Given the description of an element on the screen output the (x, y) to click on. 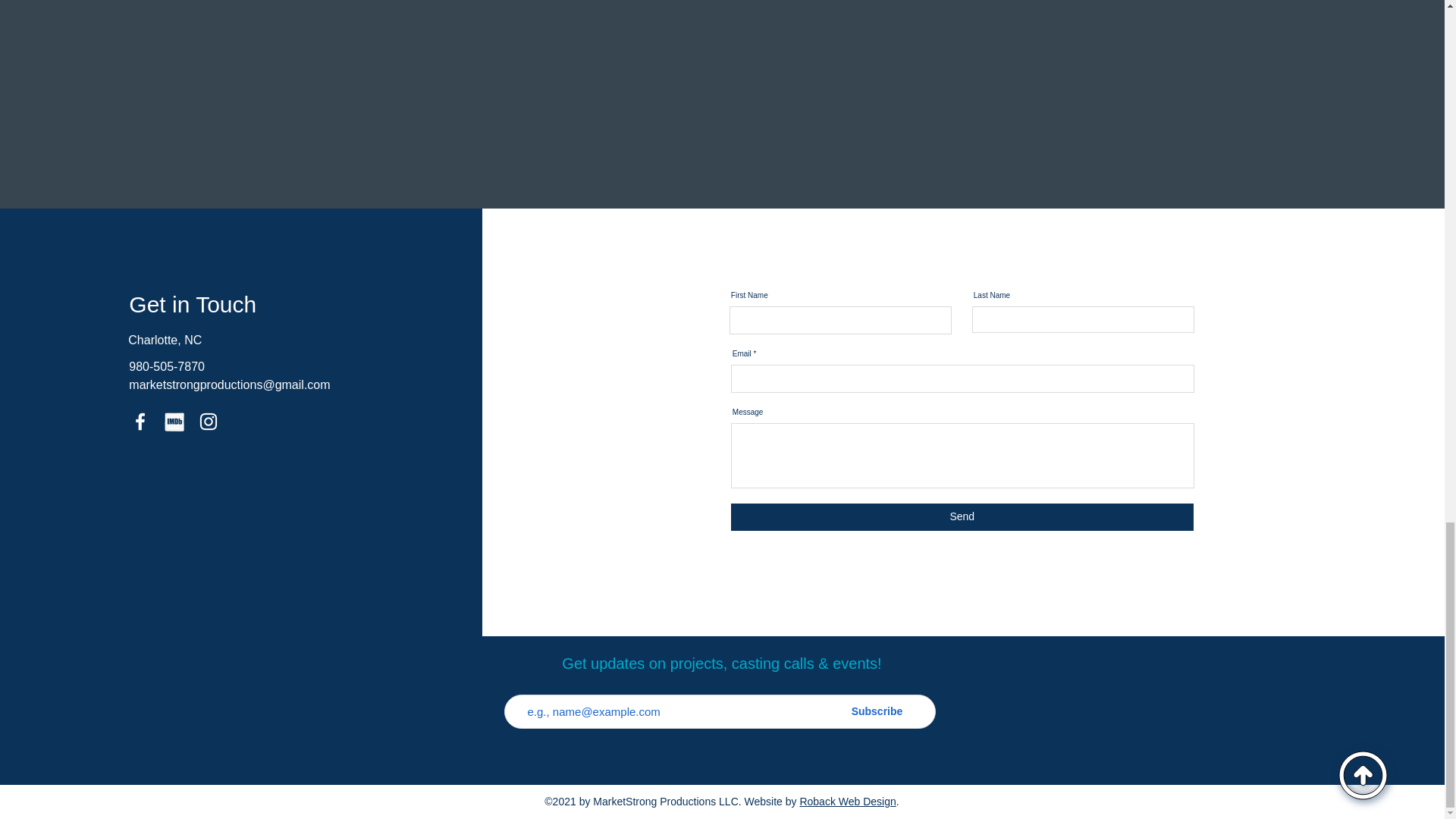
Subscribe (876, 711)
Roback Web Design (847, 801)
Send (961, 516)
980-505-7870 (167, 366)
